Given the description of an element on the screen output the (x, y) to click on. 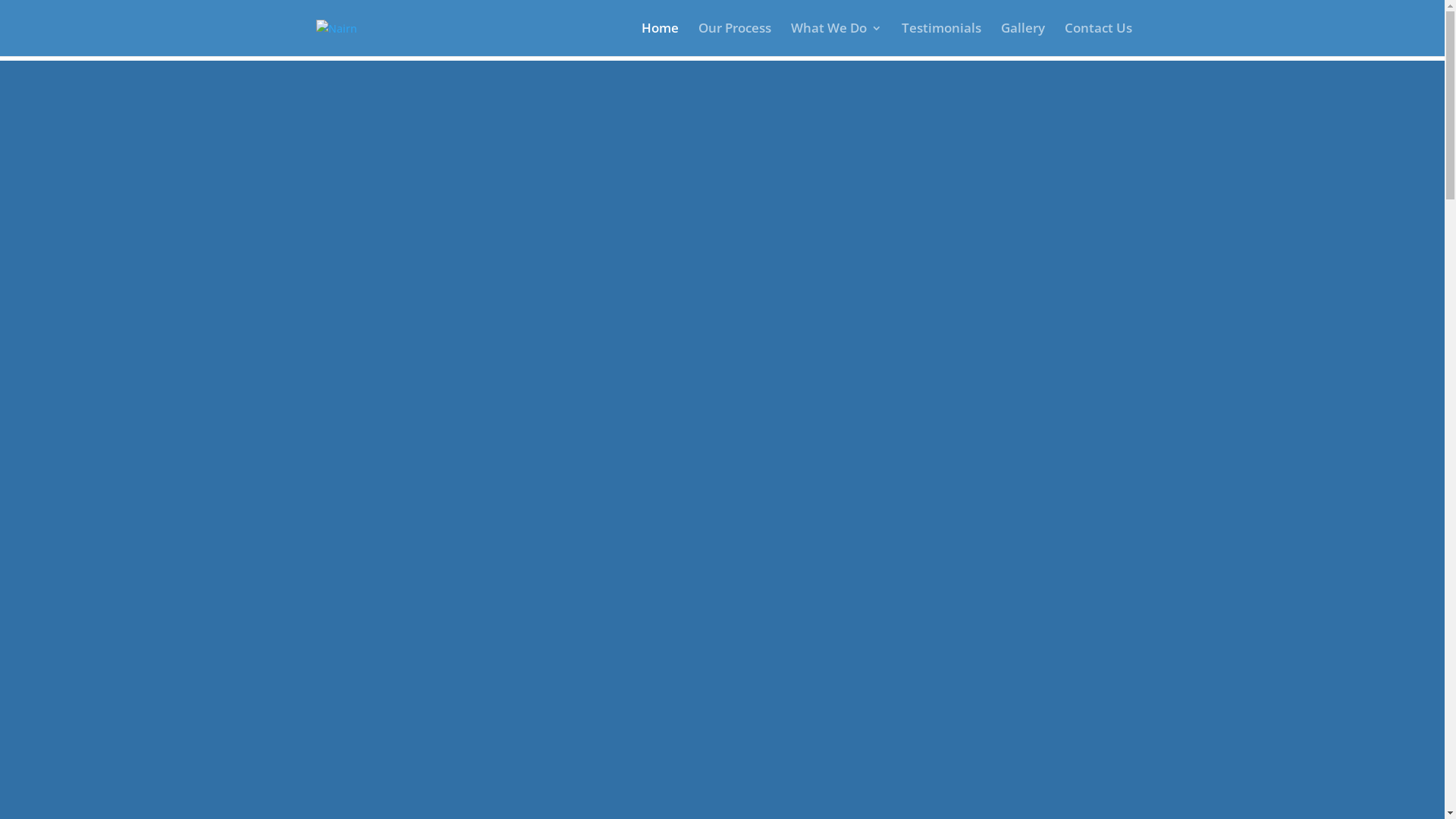
Contact Us Element type: text (1098, 39)
What We Do Element type: text (835, 39)
Our Process Element type: text (733, 39)
Gallery Element type: text (1022, 39)
Home Element type: text (659, 39)
Testimonials Element type: text (940, 39)
